Given the description of an element on the screen output the (x, y) to click on. 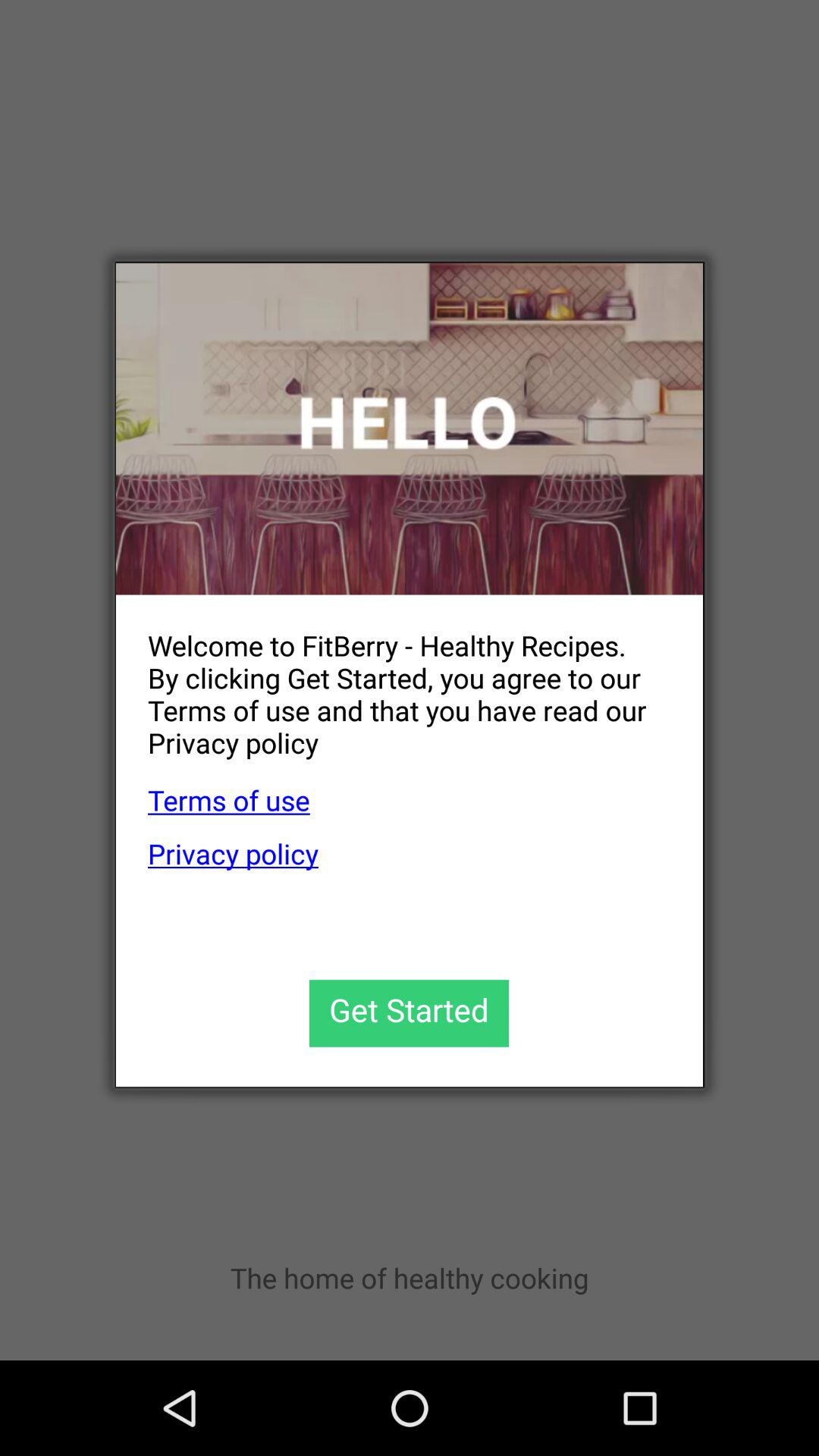
choose item below the privacy policy item (409, 1013)
